Given the description of an element on the screen output the (x, y) to click on. 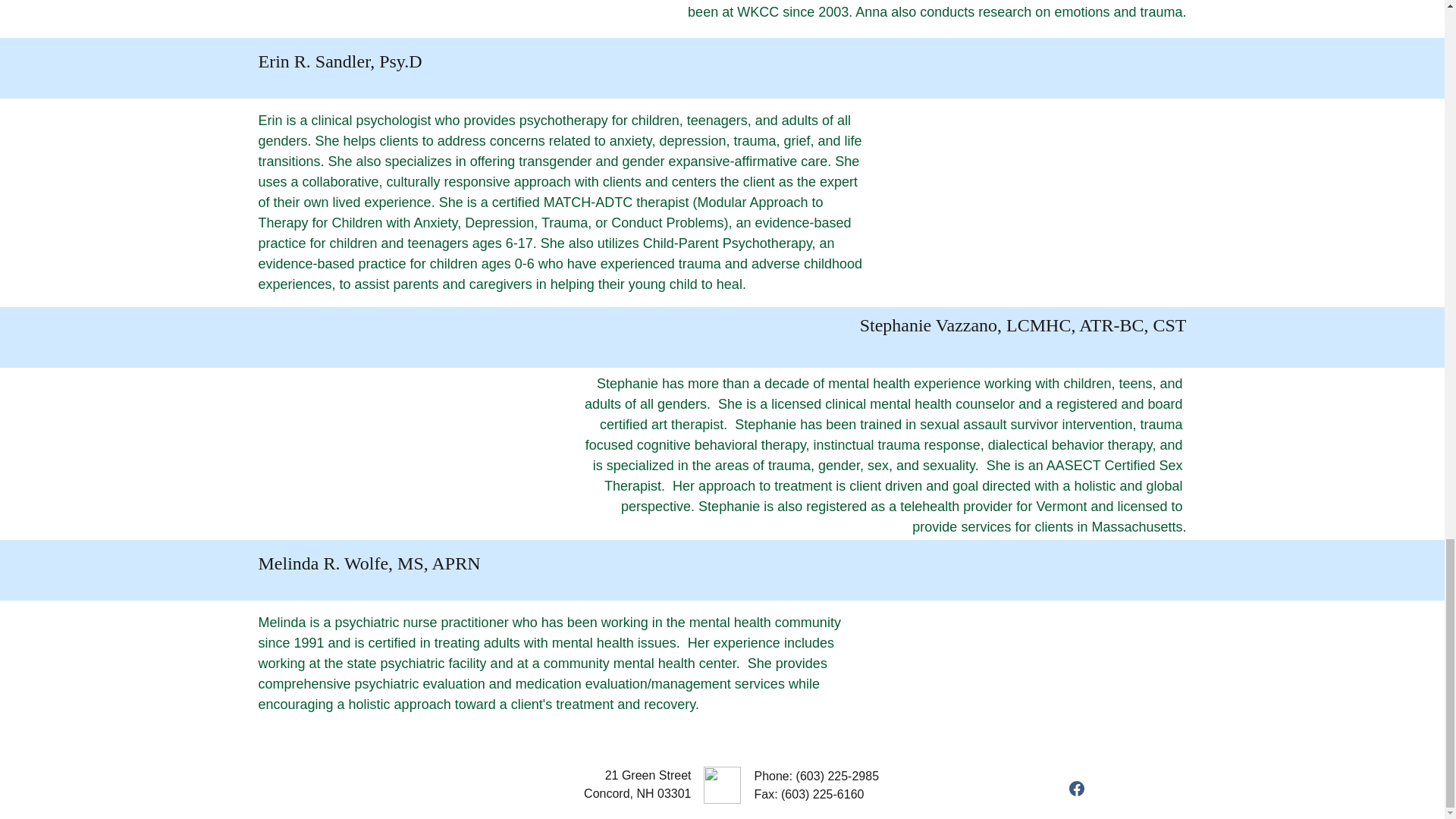
Go to Facebook page (1076, 788)
